Given the description of an element on the screen output the (x, y) to click on. 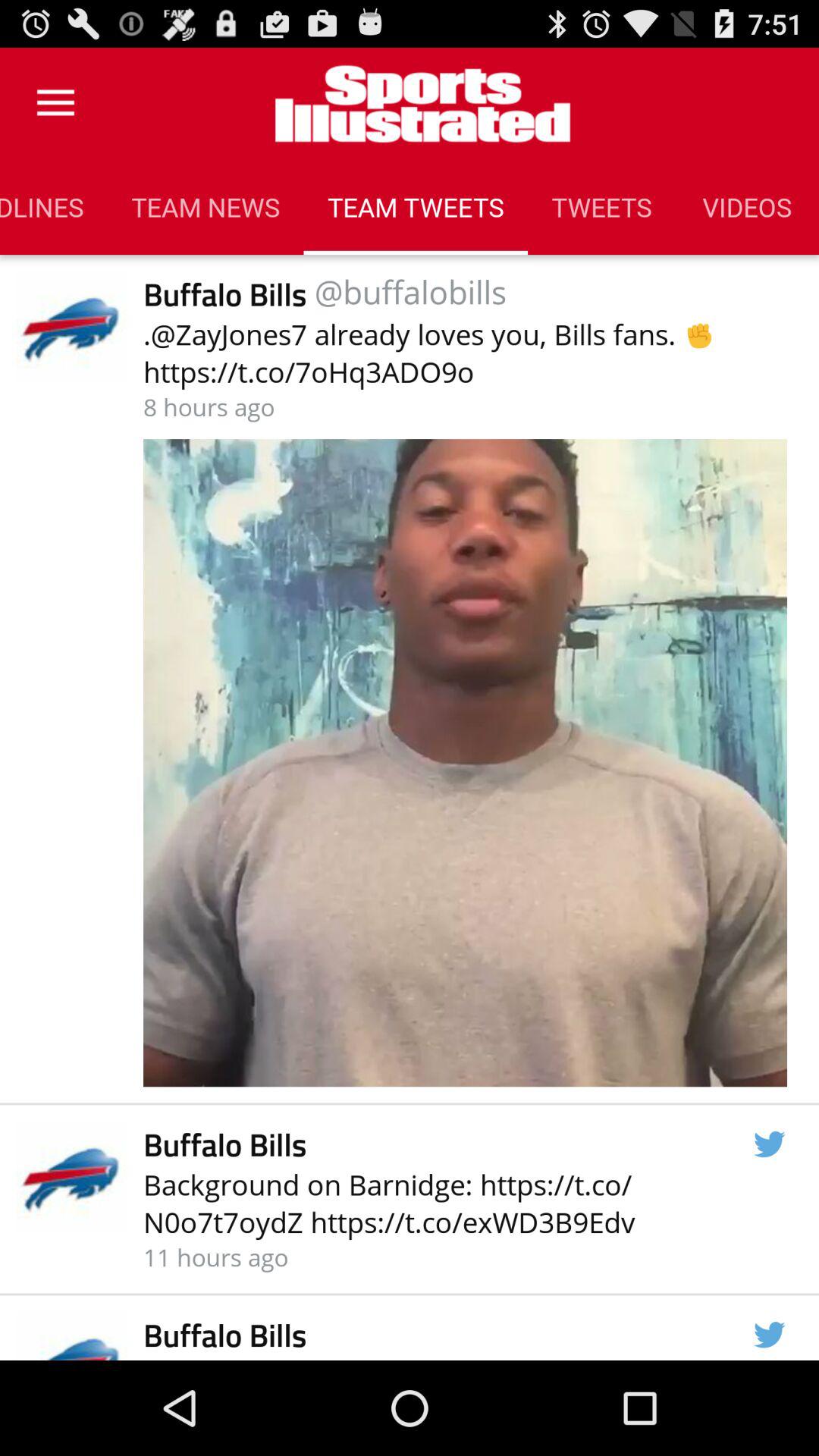
launch icon above the headlines (55, 103)
